Given the description of an element on the screen output the (x, y) to click on. 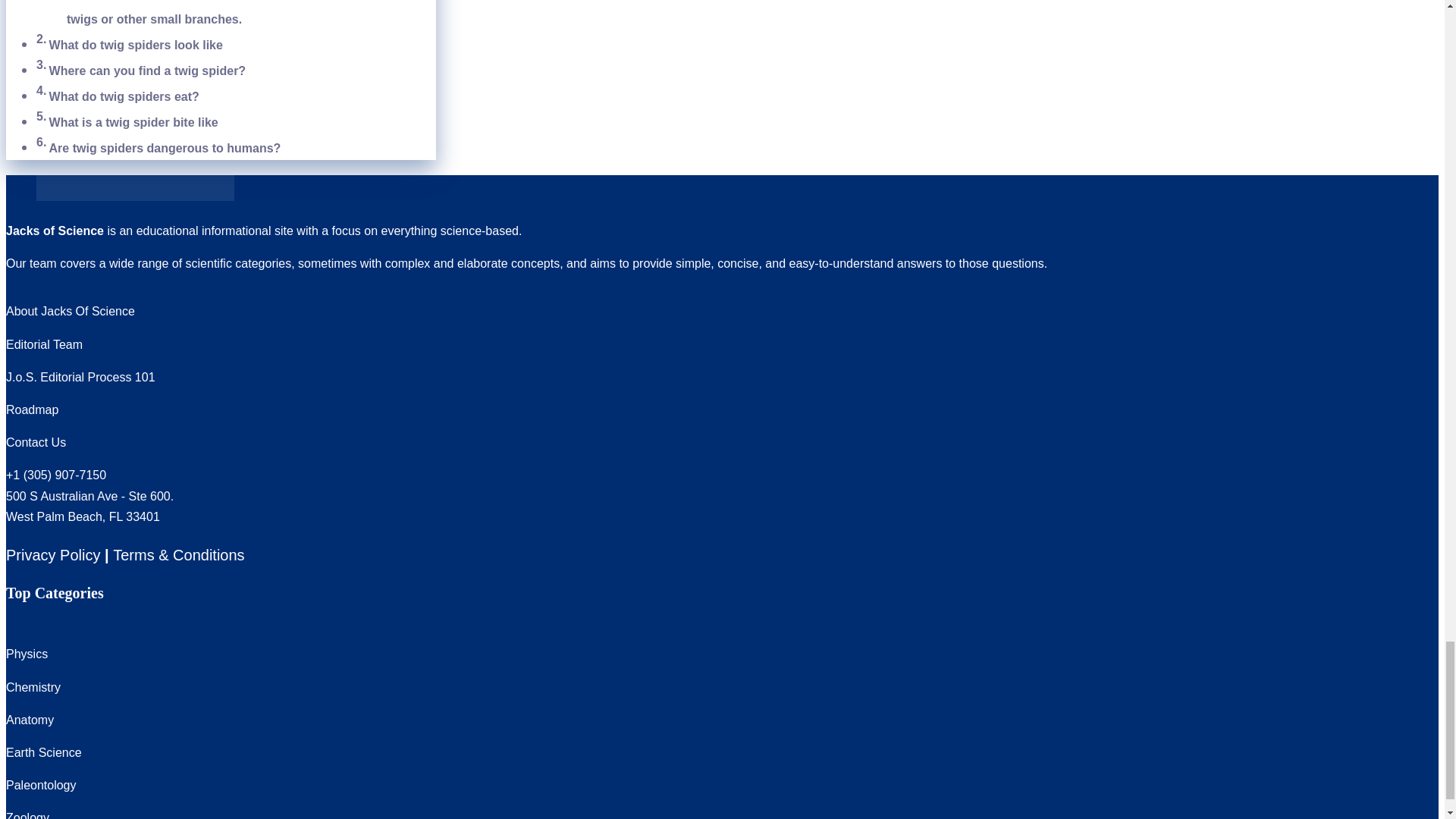
What do twig spiders look like  (138, 44)
What is a twig spider bite like  (135, 122)
Editorial Team (43, 344)
J.o.S. Editorial Process 101 (80, 377)
Are twig spiders dangerous to humans? (165, 147)
About Jacks Of Science (70, 310)
Are twig spiders dangerous to humans? (165, 147)
Where can you find a twig spider? (147, 70)
What do twig spiders eat? (124, 96)
Where can you find a twig spider? (147, 70)
Contact Us (35, 441)
Roadmap (31, 409)
